Given the description of an element on the screen output the (x, y) to click on. 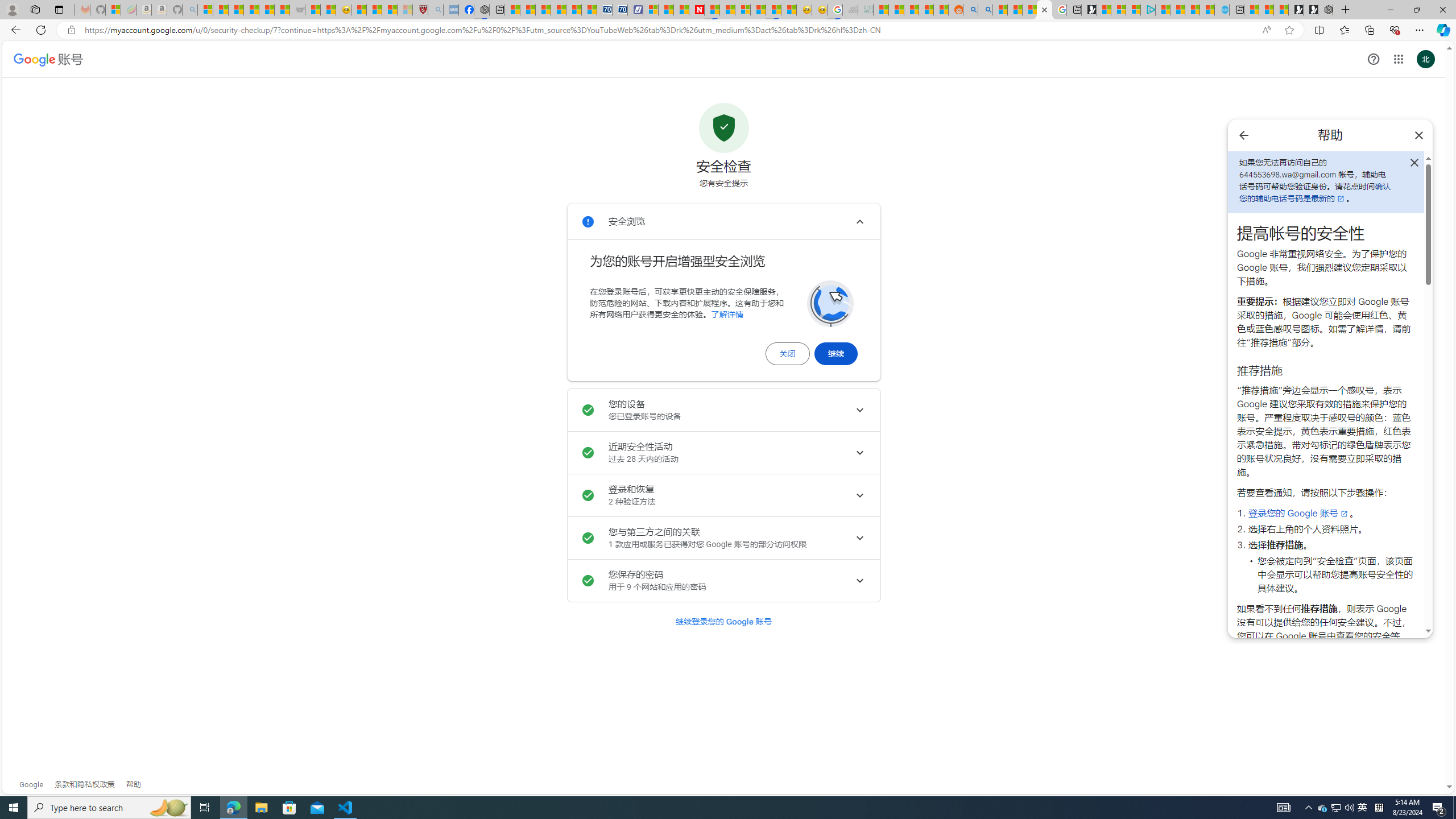
Newsweek - News, Analysis, Politics, Business, Technology (696, 9)
